Given the description of an element on the screen output the (x, y) to click on. 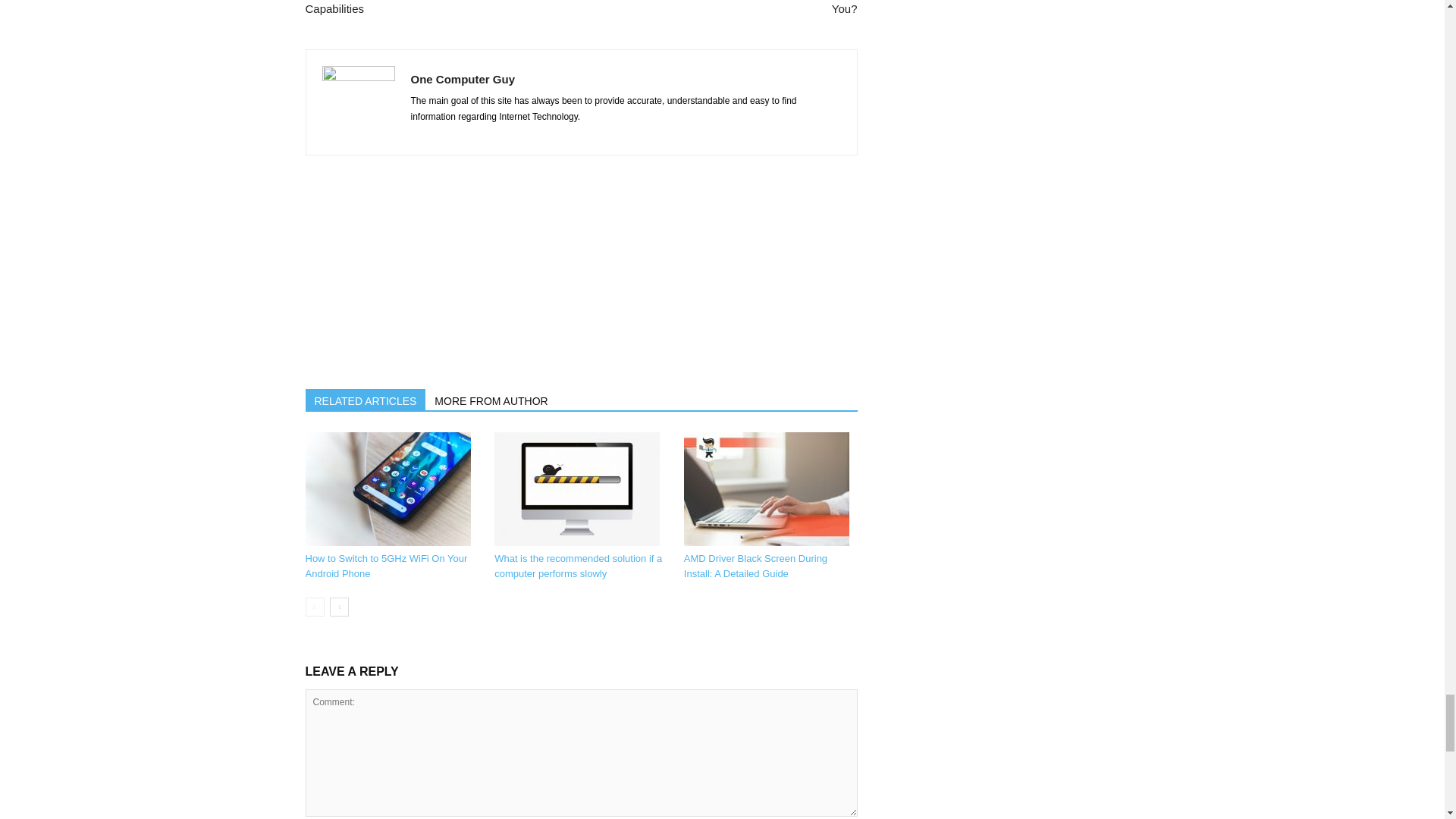
How to Switch to 5GHz WiFi On Your Android Phone (391, 489)
How to Switch to 5GHz WiFi On Your Android Phone (385, 565)
How to Switch to 5GHz WiFi On Your Android Phone (387, 489)
AMD Driver Black Screen During Install: A Detailed Guide (770, 489)
AMD Driver Black Screen During Install: A Detailed Guide (755, 565)
AMD Driver Black Screen During Install: A Detailed Guide (766, 489)
